Given the description of an element on the screen output the (x, y) to click on. 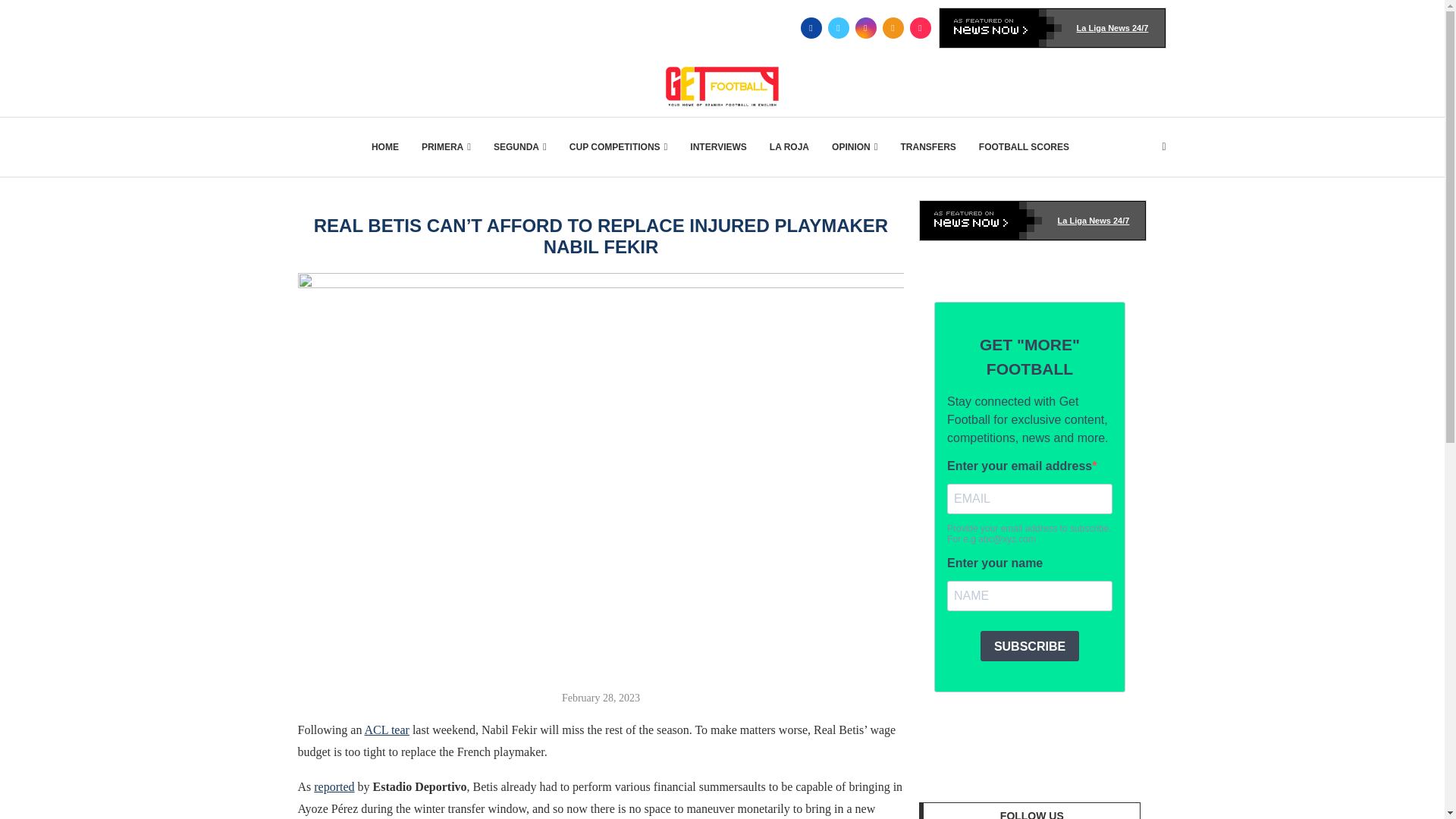
Click here for more La Liga news from NewsNow (1032, 219)
Click here for more La Liga news from NewsNow (1052, 27)
SEGUNDA (520, 146)
PRIMERA (446, 146)
